Given the description of an element on the screen output the (x, y) to click on. 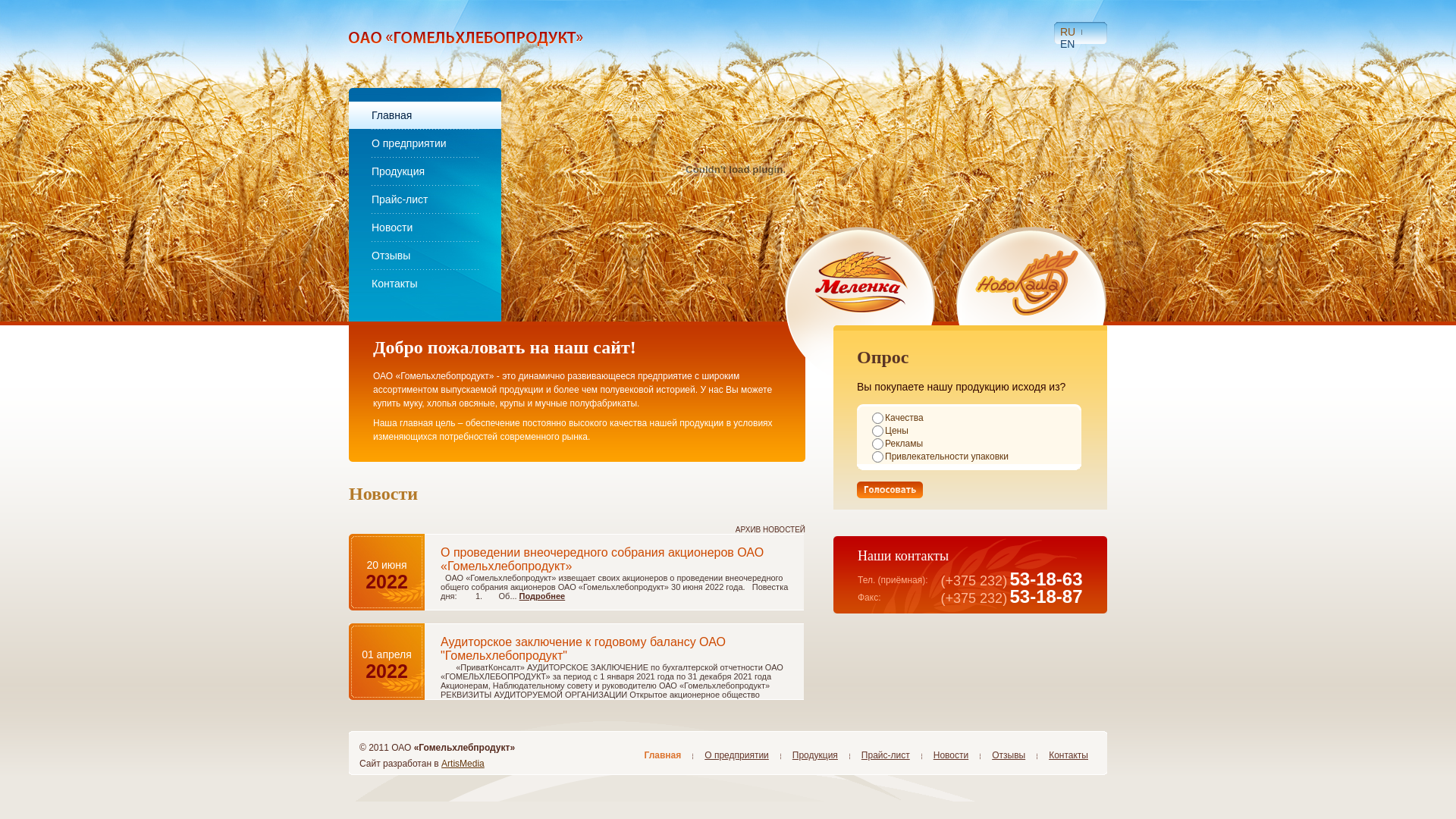
ArtisMedia Element type: text (462, 763)
EN Element type: text (1067, 43)
